Given the description of an element on the screen output the (x, y) to click on. 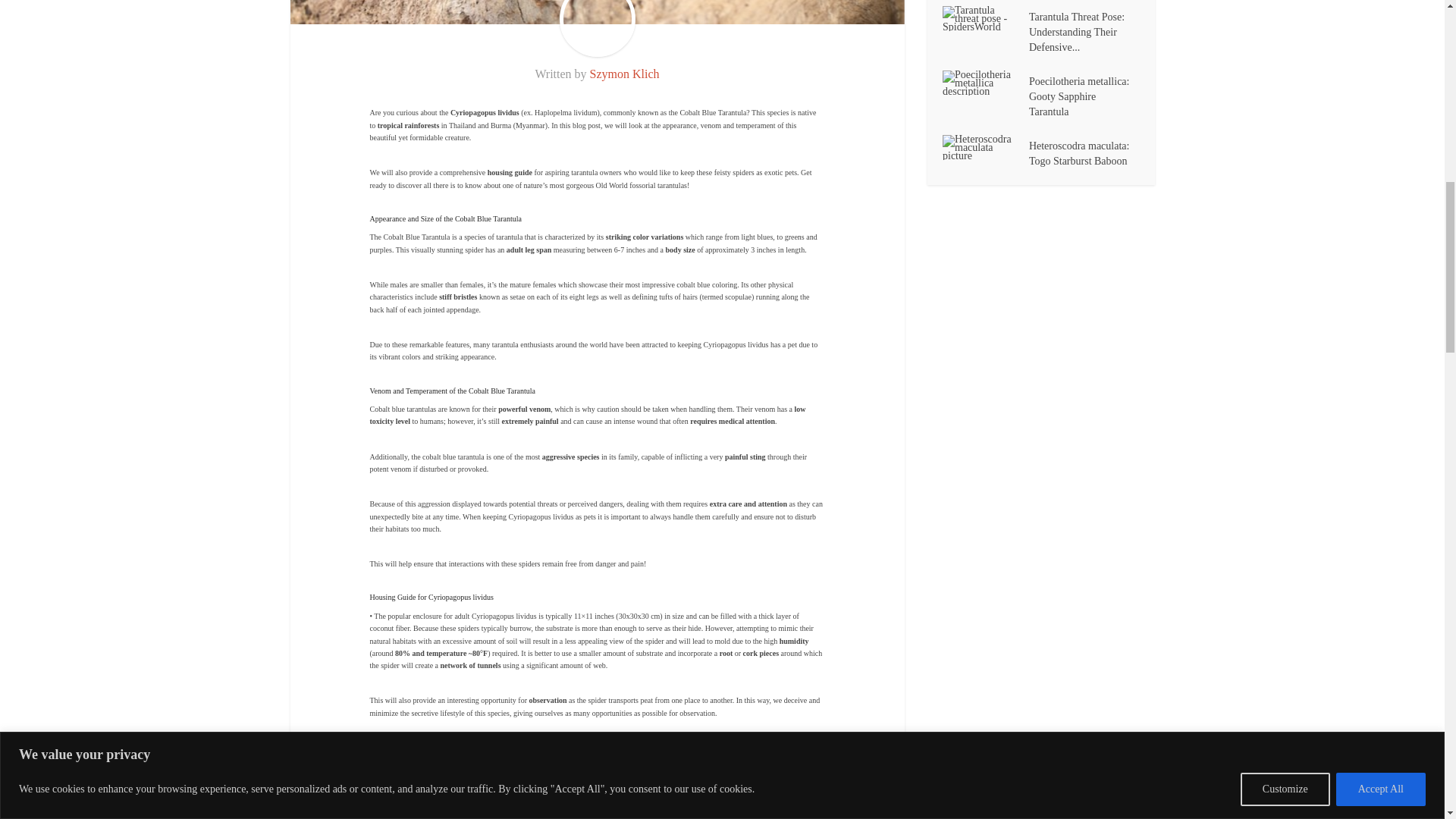
Szymon Klich (624, 73)
YouTube video player (597, 796)
